Given the description of an element on the screen output the (x, y) to click on. 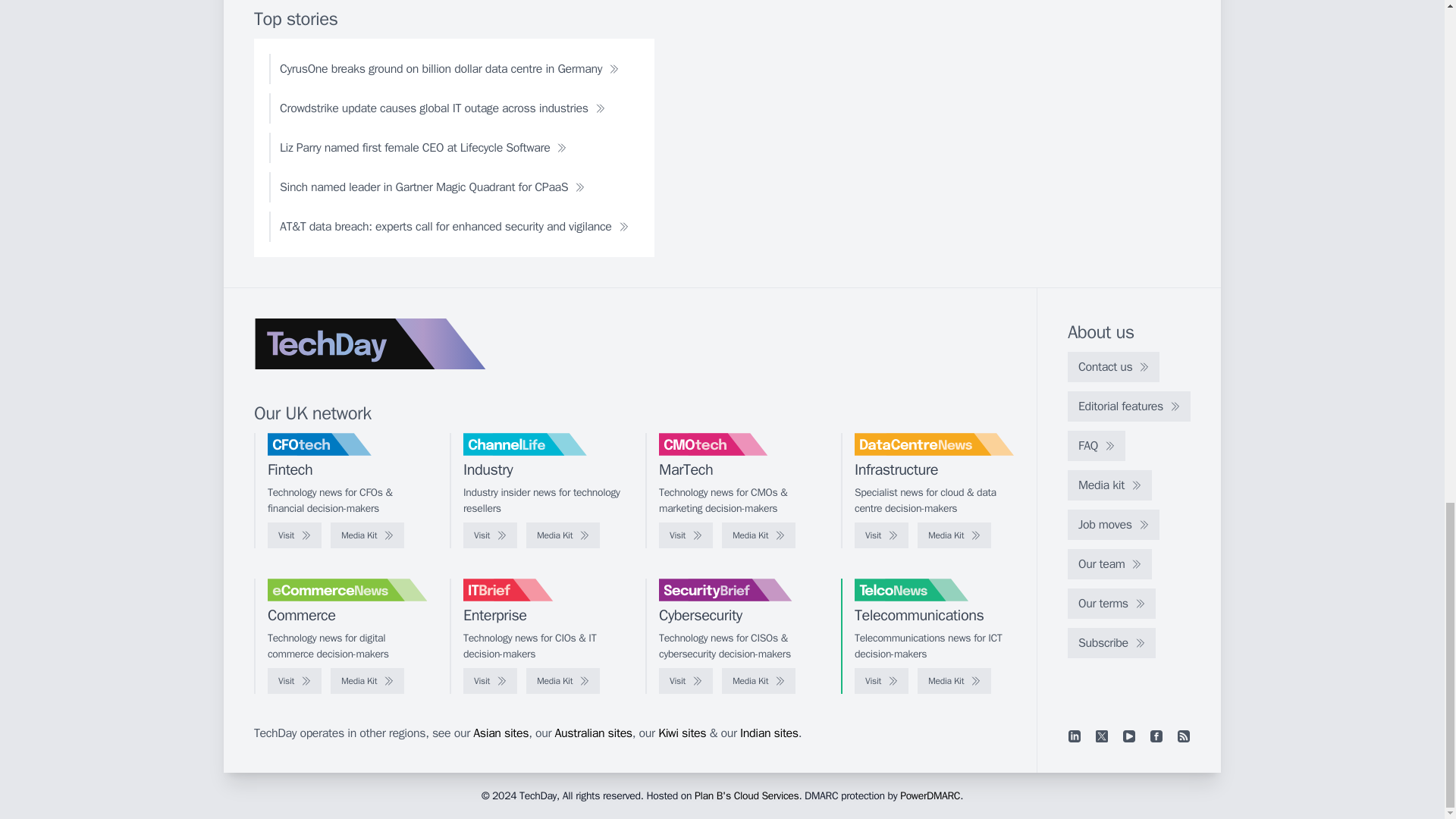
Media Kit (562, 534)
Visit (294, 534)
Liz Parry named first female CEO at Lifecycle Software (422, 147)
Media Kit (367, 534)
Crowdstrike update causes global IT outage across industries (442, 108)
Visit (489, 534)
Media Kit (758, 534)
Visit (881, 534)
Media Kit (954, 534)
Visit (686, 534)
Sinch named leader in Gartner Magic Quadrant for CPaaS (432, 186)
